Given the description of an element on the screen output the (x, y) to click on. 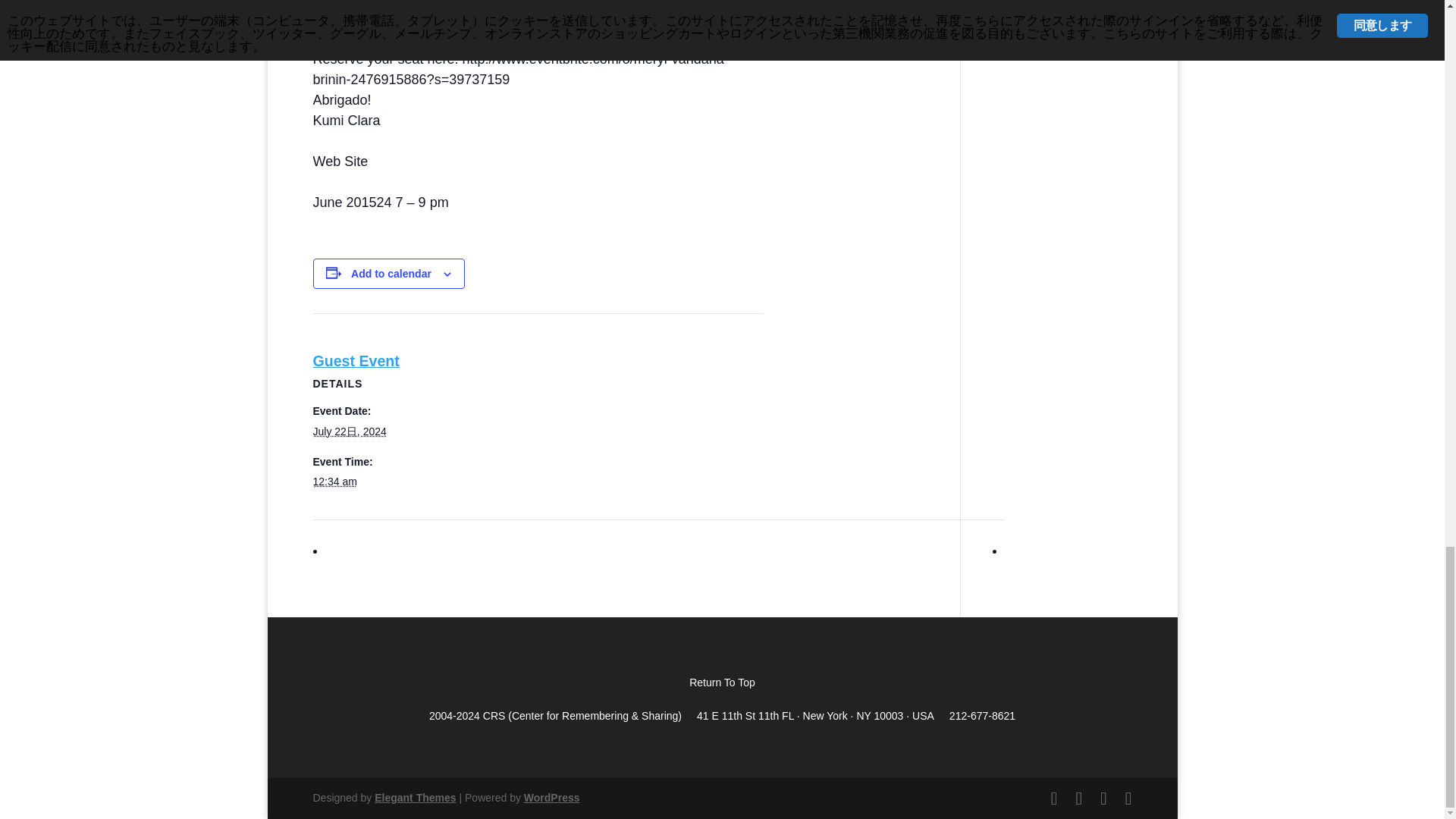
Premium WordPress Themes (414, 797)
2024-07-22 (349, 431)
2024-07-22 (334, 481)
Guest Event (355, 360)
Add to calendar (390, 273)
